Given the description of an element on the screen output the (x, y) to click on. 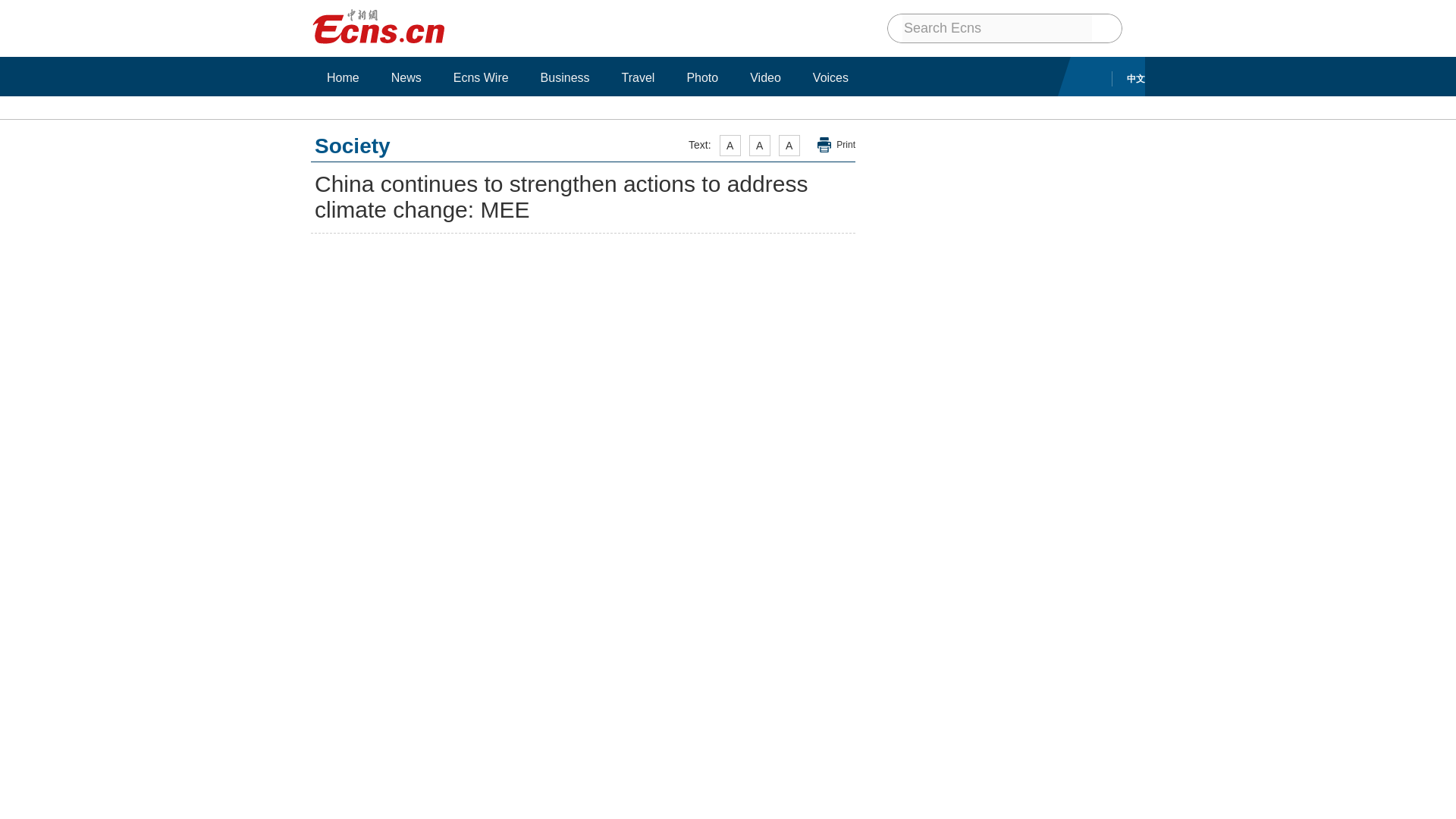
Video (765, 77)
Business (565, 77)
Search Ecns (997, 27)
Travel (637, 77)
Photo (702, 77)
News (405, 77)
Print (836, 144)
Voices (831, 77)
Ecns Wire (480, 77)
Home (343, 77)
